Given the description of an element on the screen output the (x, y) to click on. 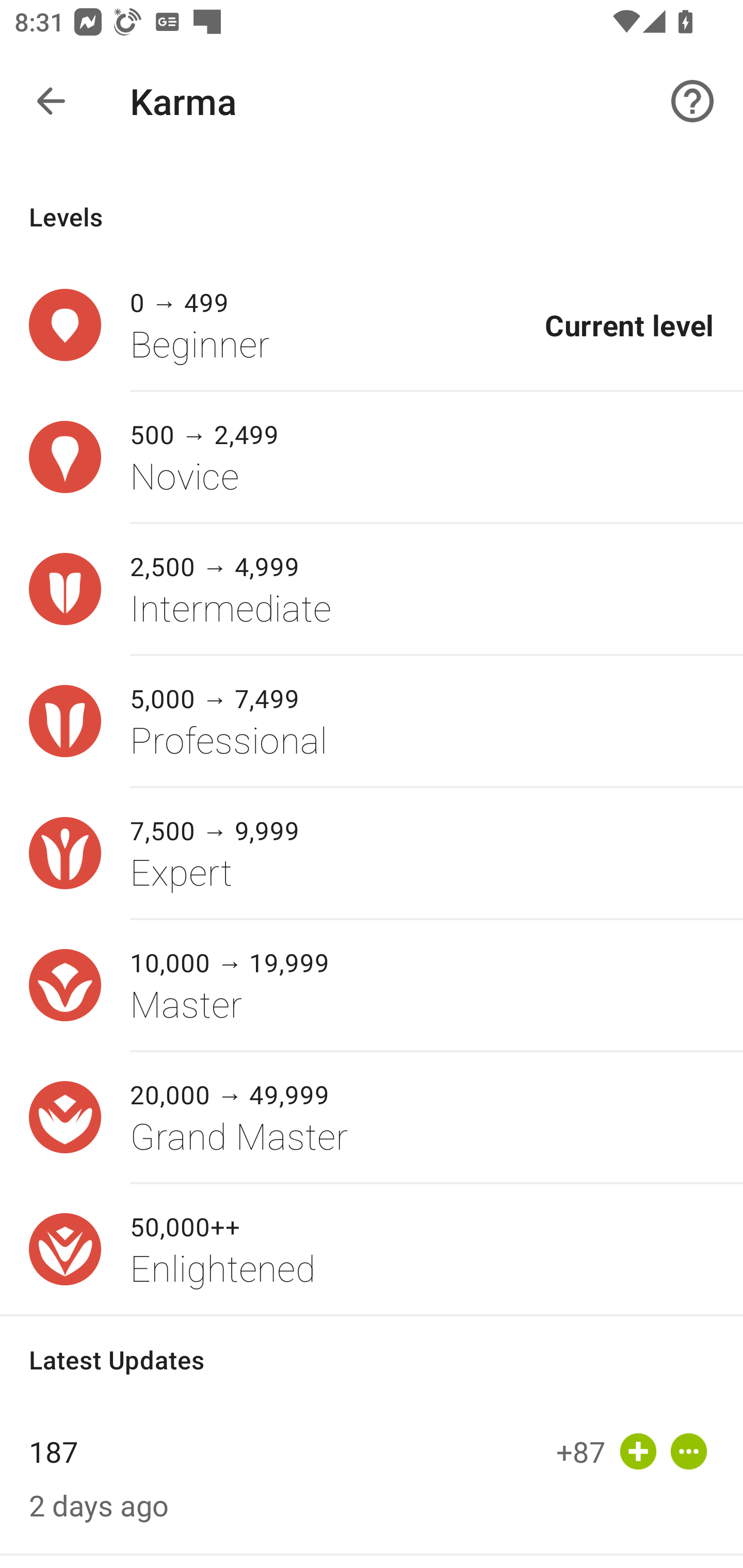
Navigate up (50, 101)
About Karma levels (692, 101)
You added tasks. (637, 1451)
Usage of advanced features. (688, 1451)
